Given the description of an element on the screen output the (x, y) to click on. 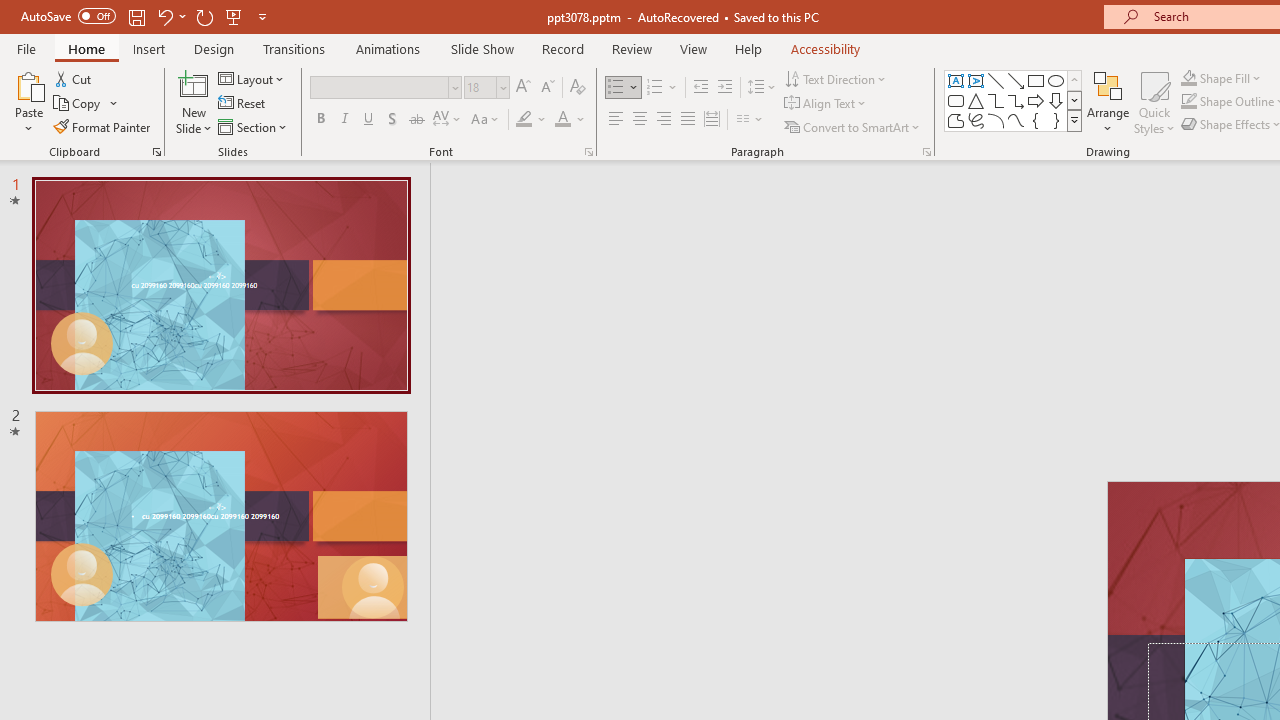
Reset (243, 103)
Decrease Indent (700, 87)
Character Spacing (447, 119)
Isosceles Triangle (975, 100)
Office Clipboard... (156, 151)
Increase Font Size (522, 87)
Justify (687, 119)
